Given the description of an element on the screen output the (x, y) to click on. 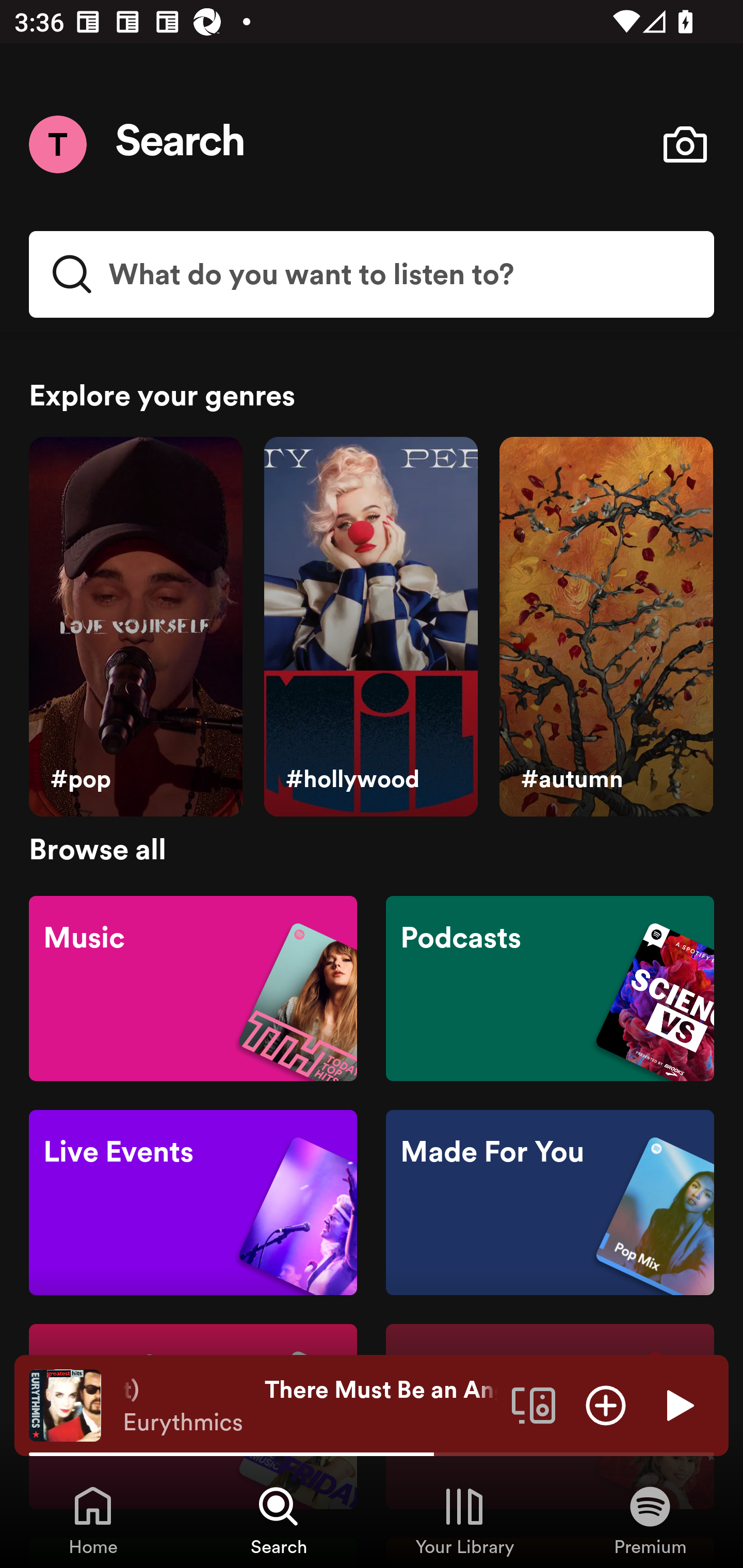
Menu (57, 144)
Open camera (685, 145)
Search (180, 144)
#pop (135, 626)
#hollywood (370, 626)
#autumn (606, 626)
Music (192, 987)
Podcasts (549, 987)
Live Events (192, 1202)
Made For You (549, 1202)
The cover art of the currently playing track (64, 1404)
Connect to a device. Opens the devices menu (533, 1404)
Add item (605, 1404)
Play (677, 1404)
Home, Tab 1 of 4 Home Home (92, 1519)
Search, Tab 2 of 4 Search Search (278, 1519)
Your Library, Tab 3 of 4 Your Library Your Library (464, 1519)
Premium, Tab 4 of 4 Premium Premium (650, 1519)
